Given the description of an element on the screen output the (x, y) to click on. 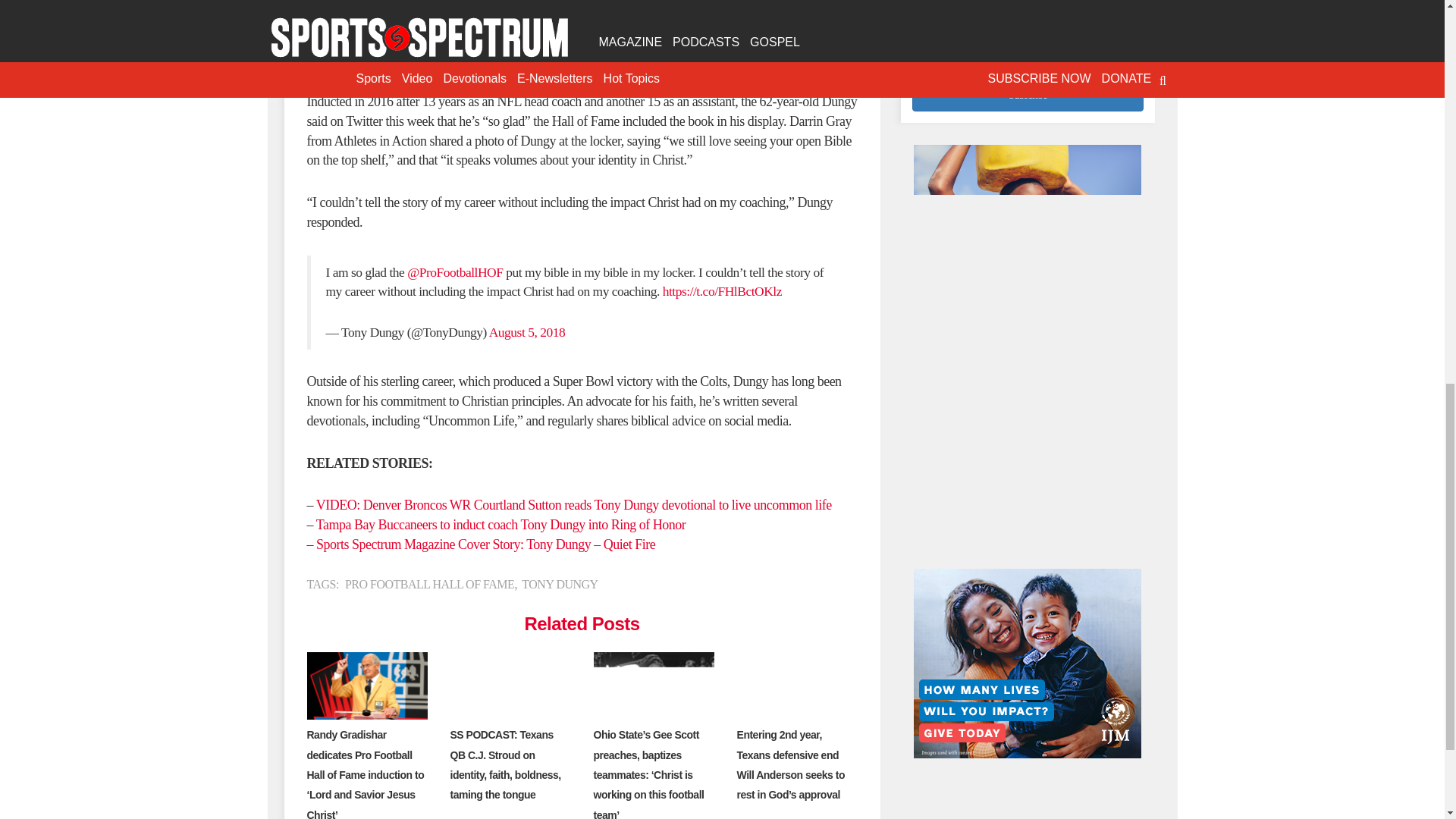
August 5, 2018 (526, 331)
PRO FOOTBALL HALL OF FAME (429, 584)
International Phone Number (1027, 41)
TONY DUNGY (558, 584)
